Given the description of an element on the screen output the (x, y) to click on. 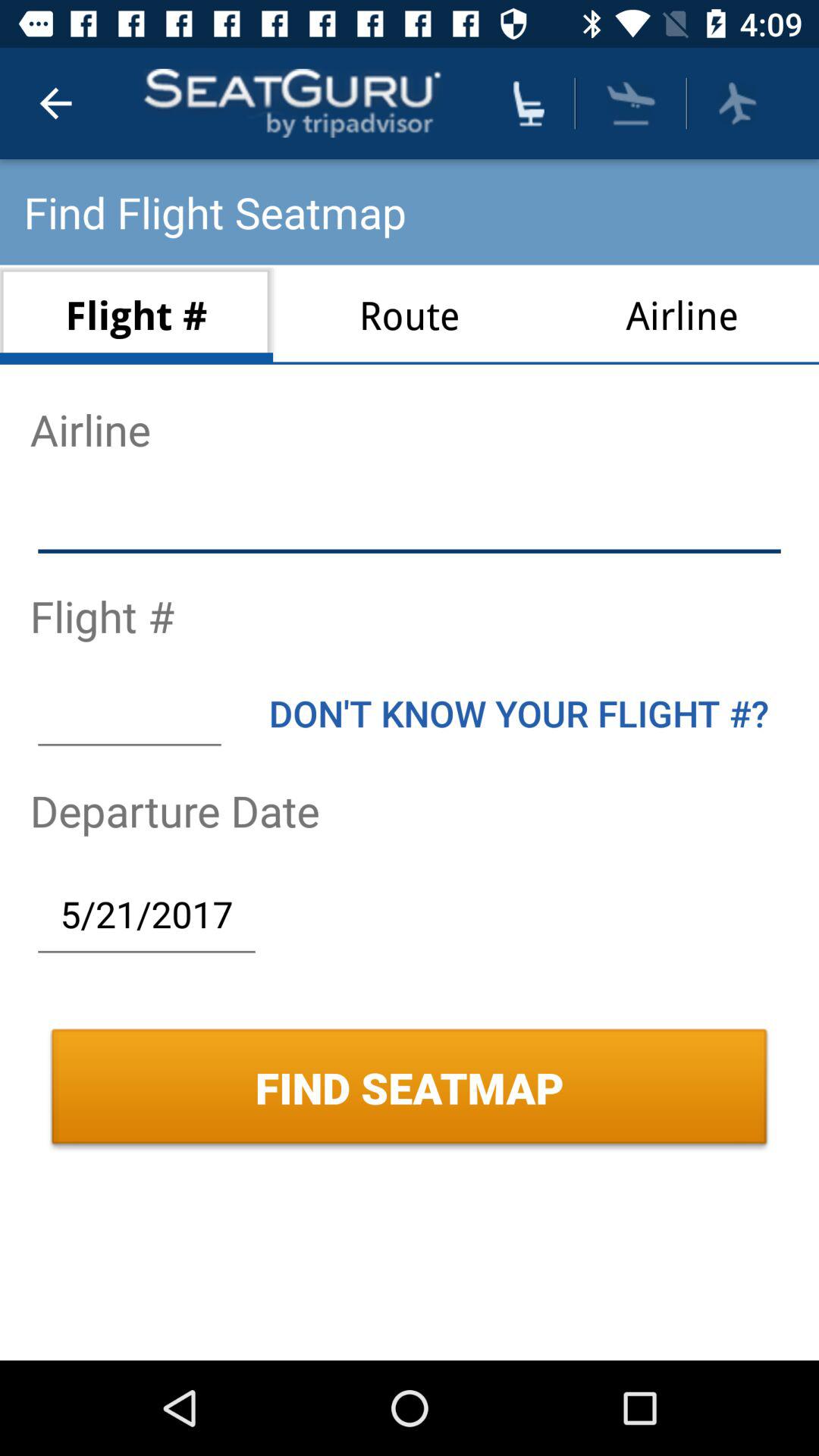
launch the icon above route item (528, 103)
